Given the description of an element on the screen output the (x, y) to click on. 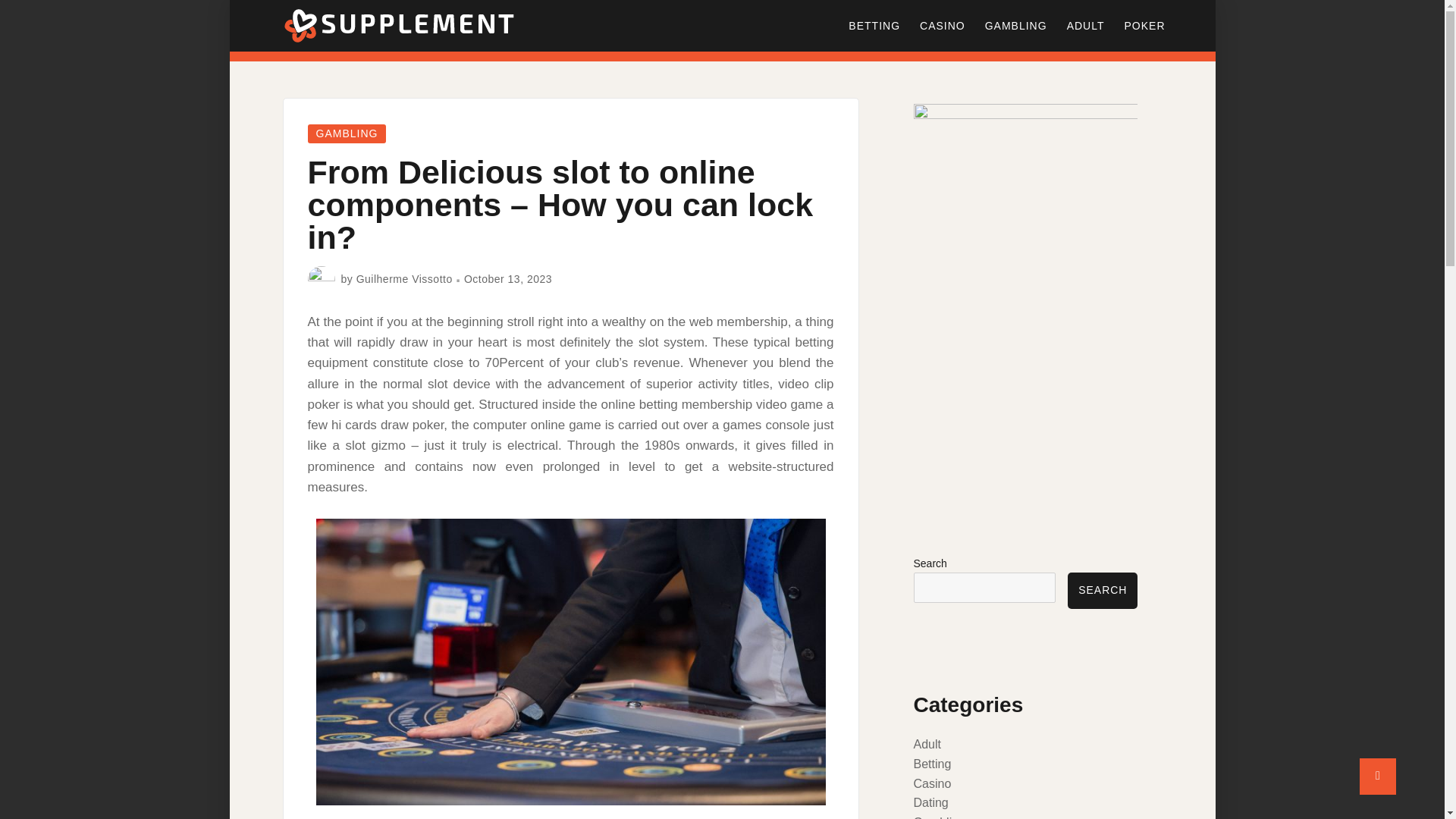
Guilherme Vissotto (404, 278)
GAMBLING (1016, 25)
October 13, 2023 (507, 278)
Betting (931, 763)
SEARCH (1102, 590)
Adult (926, 744)
Scroll to top (1377, 776)
GAMBLING (347, 133)
BETTING (874, 25)
ADULT (1086, 25)
